Given the description of an element on the screen output the (x, y) to click on. 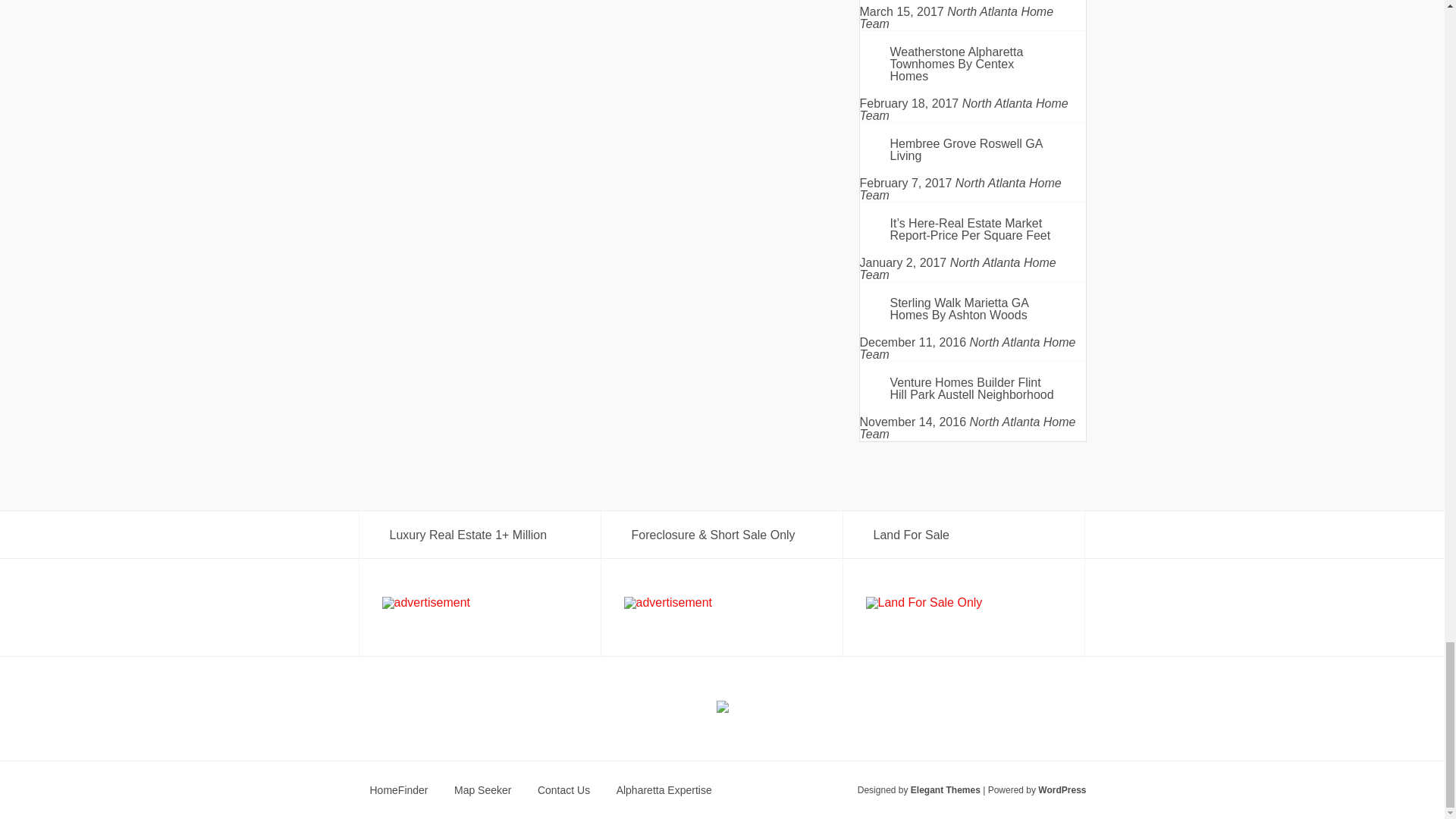
North Atlanta Georgia Land For Sale (924, 603)
Banked Owned Properties And Short Sale Real Estate (667, 603)
Estate Homes, Luxury Condos, Townhomes Priced Over 1,000,000 (425, 603)
